Given the description of an element on the screen output the (x, y) to click on. 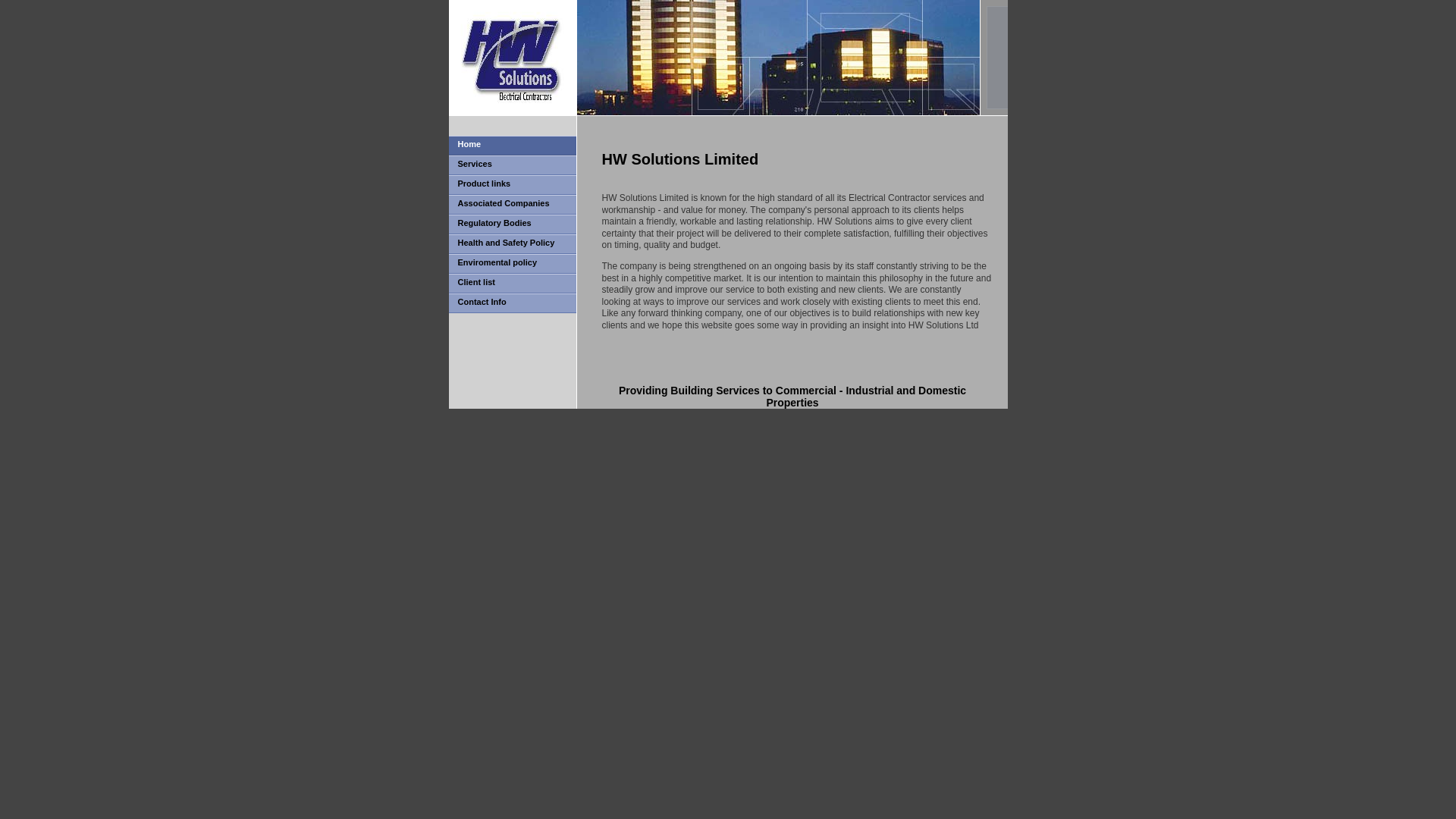
Product links (512, 184)
Regulatory Bodies (512, 224)
Client list (512, 283)
Services (512, 165)
Contact Info (512, 302)
Home (512, 145)
Enviromental policy (512, 263)
Associated Companies (512, 204)
Health and Safety Policy (512, 243)
